Given the description of an element on the screen output the (x, y) to click on. 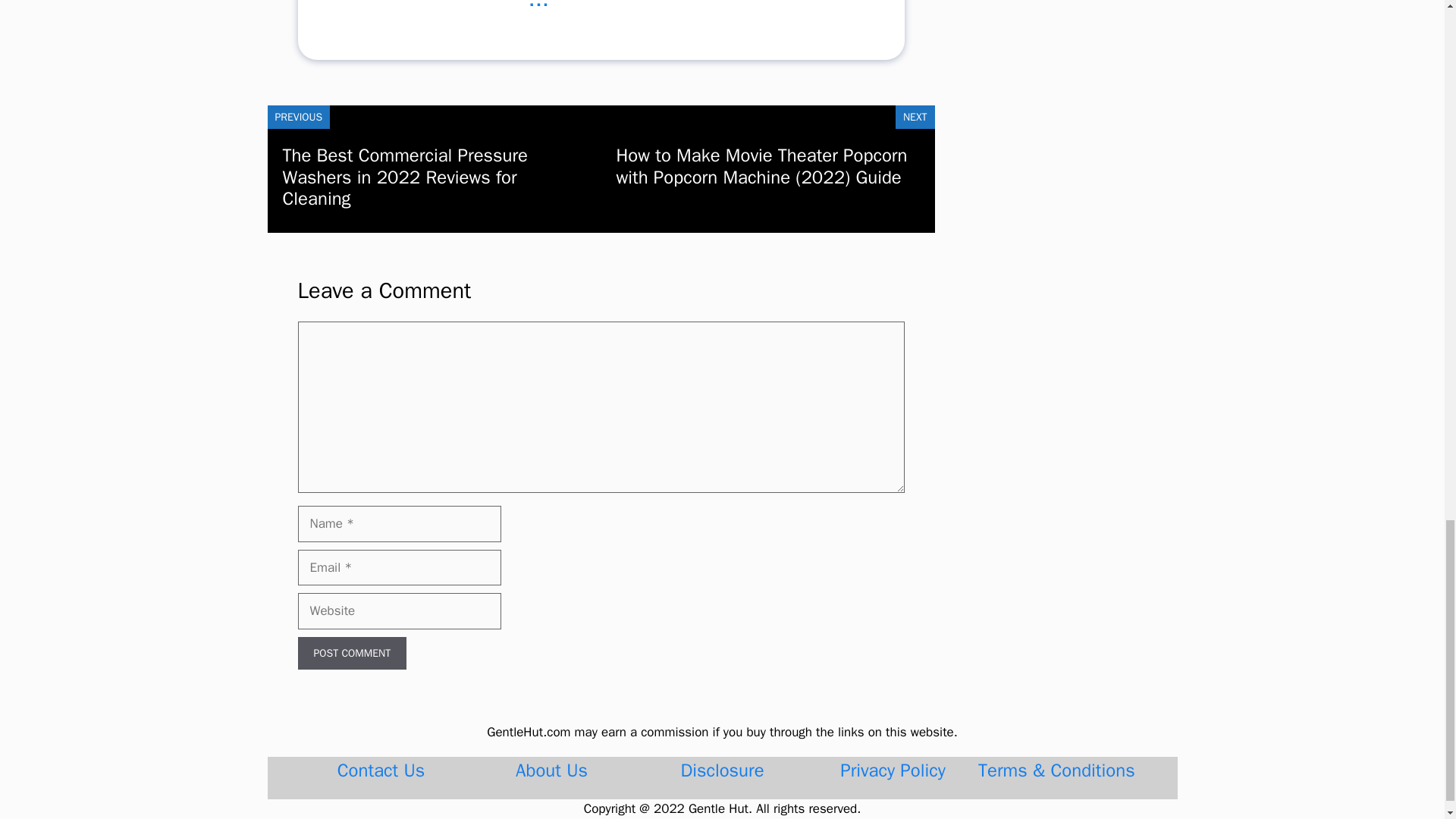
Post Comment (351, 653)
Read more about this author (537, 11)
Post Comment (351, 653)
Scroll back to top (1406, 54)
... (537, 11)
